Given the description of an element on the screen output the (x, y) to click on. 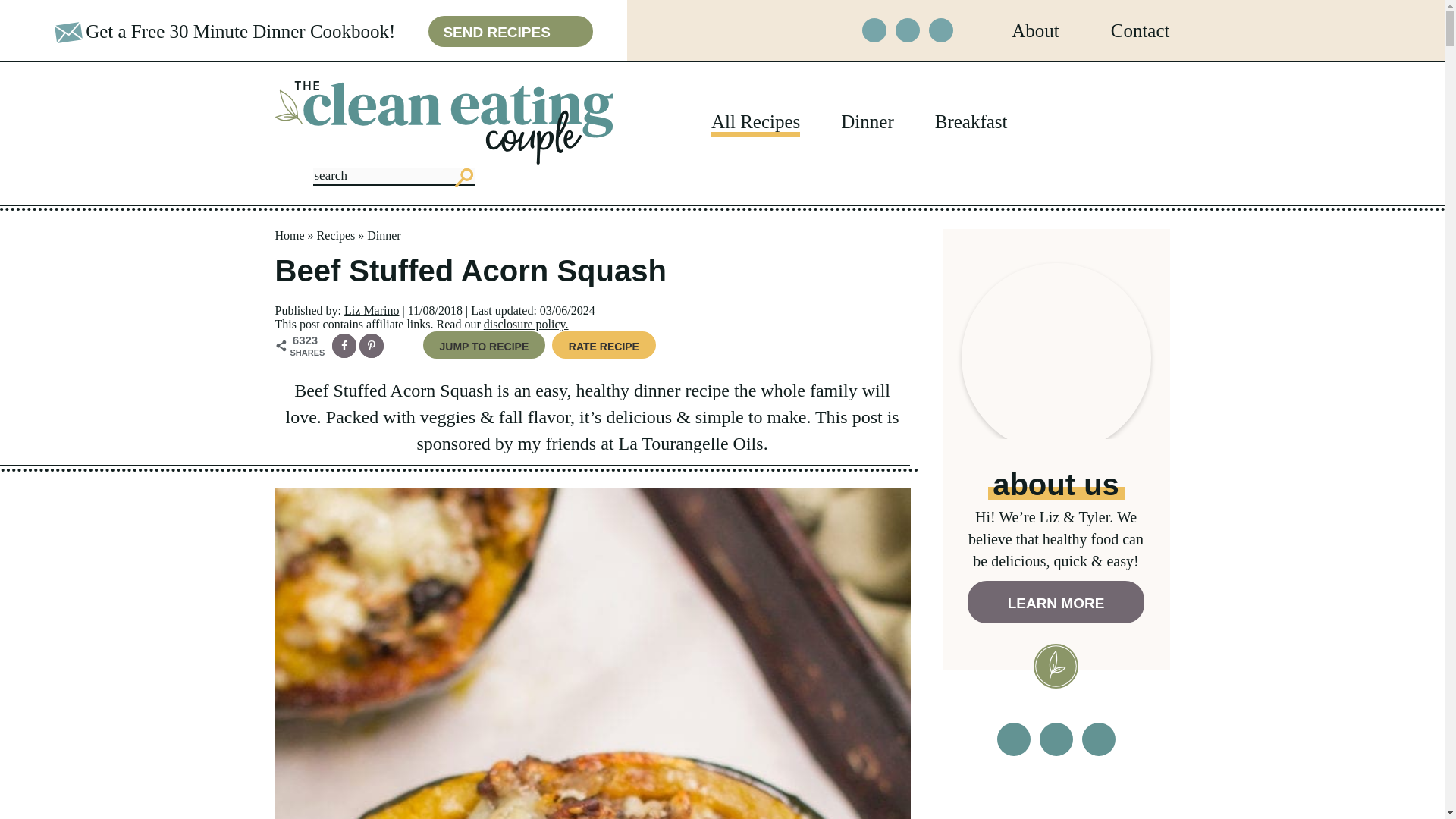
Breakfast (970, 121)
Dinner (383, 235)
Contact (1140, 29)
RATE RECIPE (603, 344)
JUMP TO RECIPE (484, 344)
RATE RECIPE (603, 344)
All Recipes (755, 121)
About (1035, 29)
JUMP TO RECIPE (484, 344)
Dinner (867, 121)
